Given the description of an element on the screen output the (x, y) to click on. 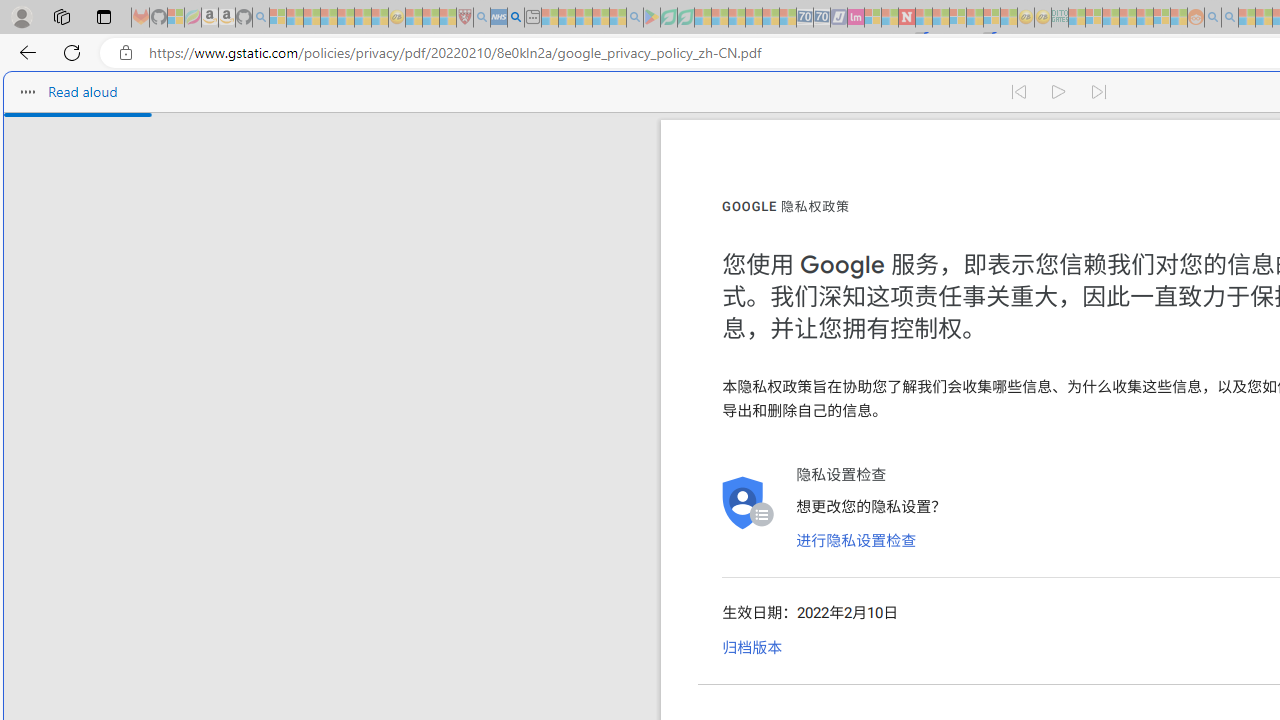
Recipes - MSN - Sleeping (413, 17)
New tab - Sleeping (532, 17)
Microsoft account | Privacy - Sleeping (1093, 17)
